Given the description of an element on the screen output the (x, y) to click on. 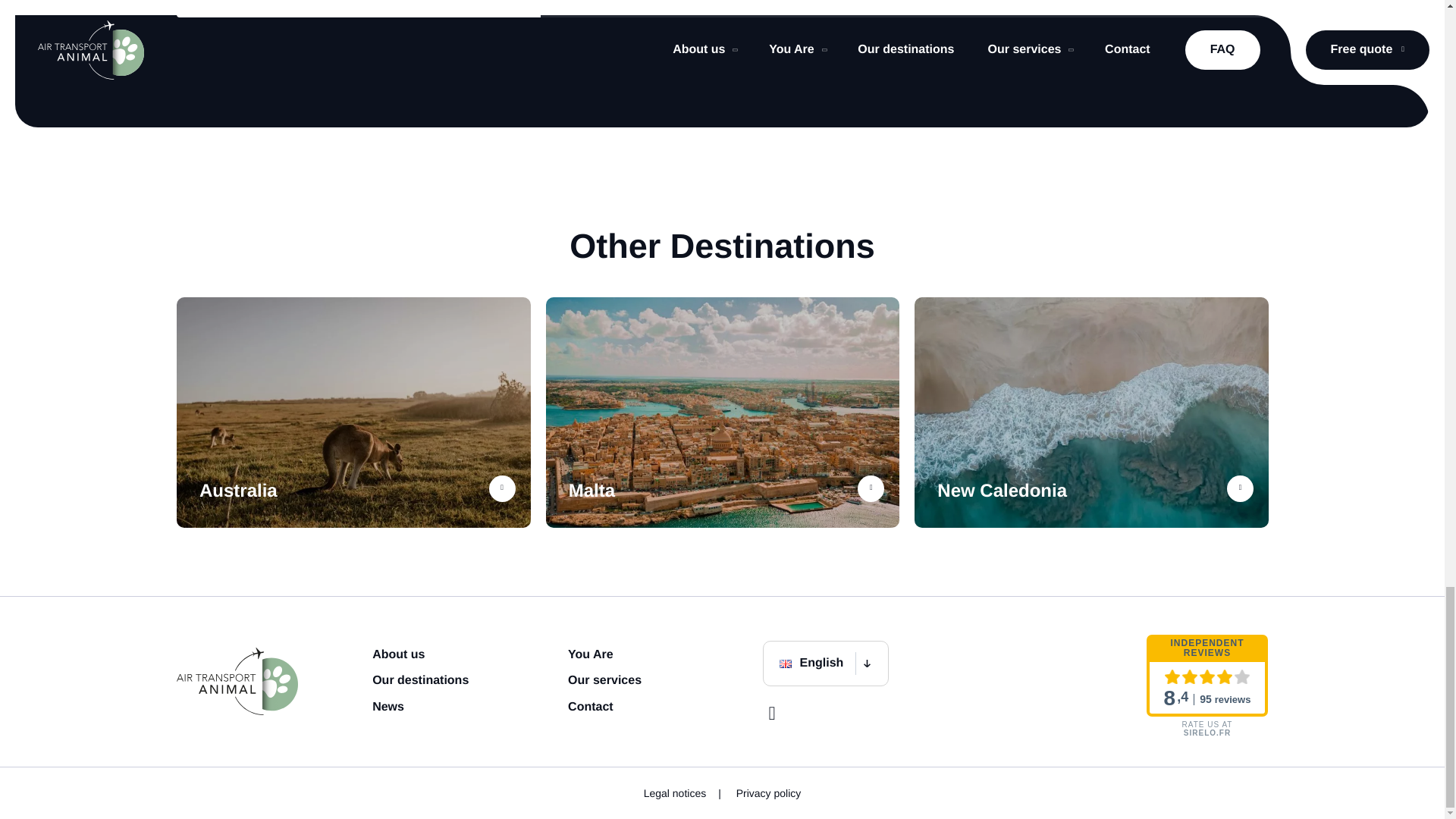
Malta (722, 412)
Australia (353, 412)
New Caledonia (1091, 412)
